Given the description of an element on the screen output the (x, y) to click on. 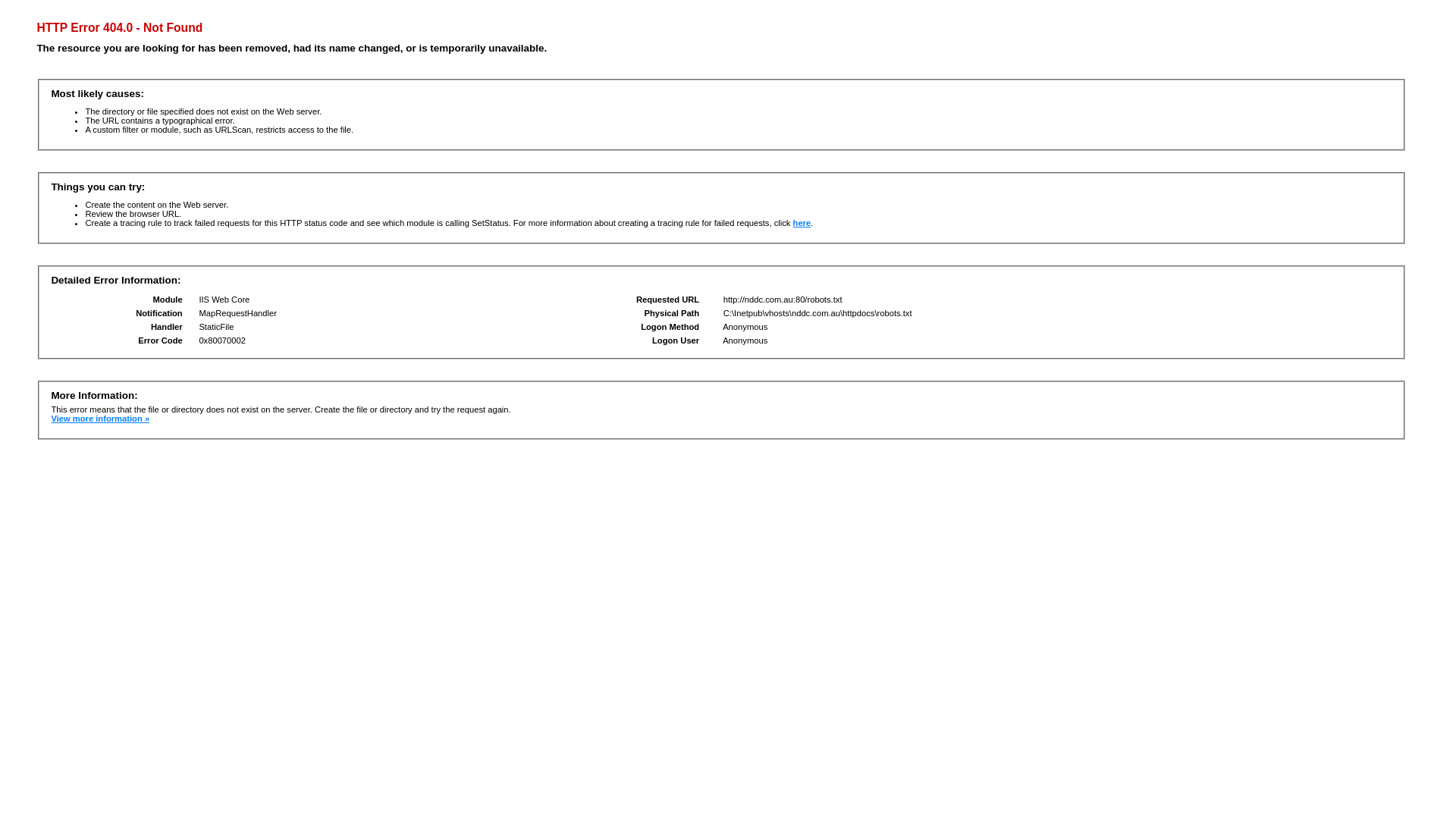
here Element type: text (802, 222)
